Given the description of an element on the screen output the (x, y) to click on. 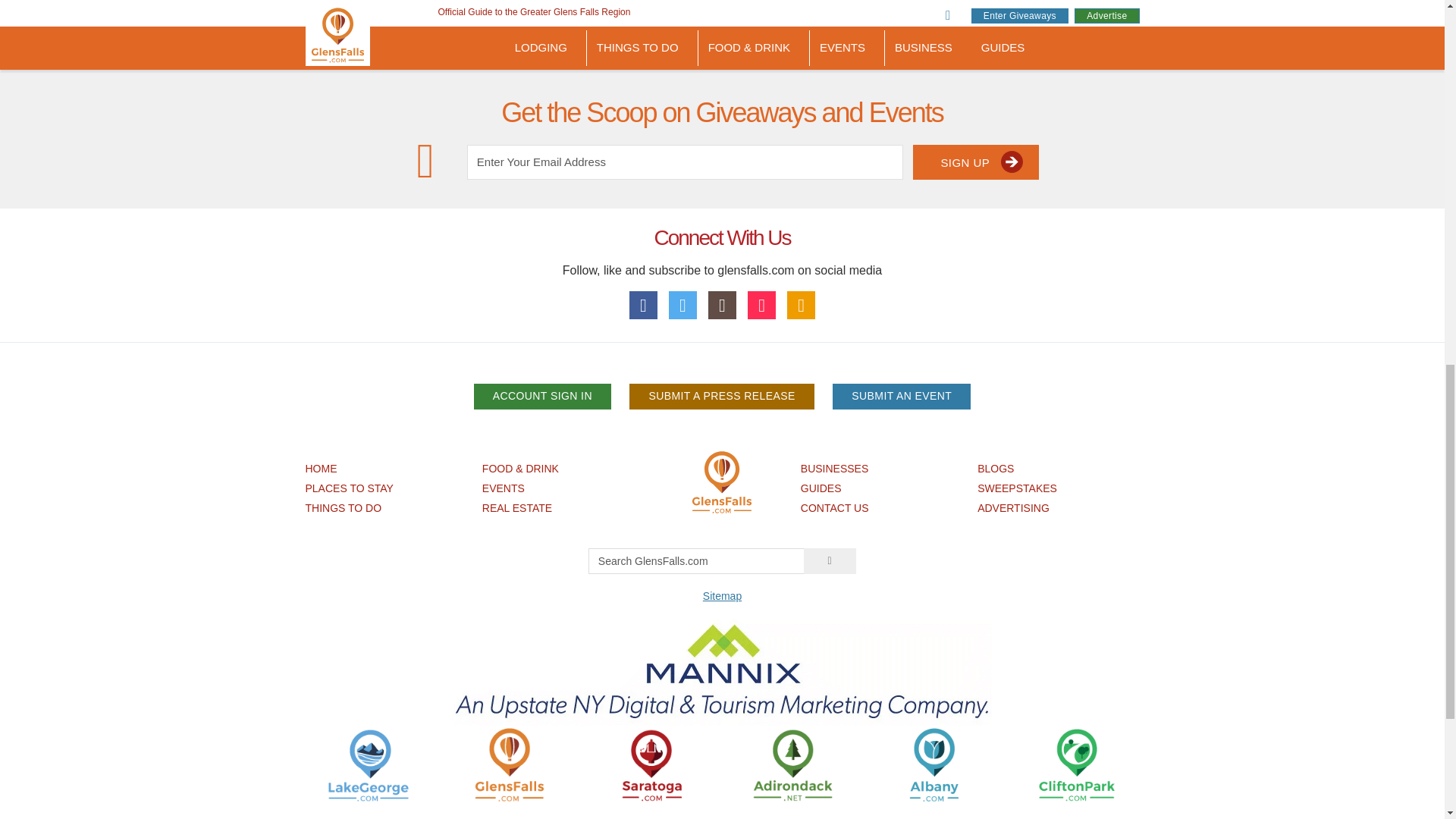
Twitter (682, 304)
Facebook (643, 304)
Opens in a new window (651, 764)
Opens in a new window (792, 764)
My Planner (801, 304)
Opens in a new window (933, 764)
TikTok (762, 304)
Opens in a new window (1075, 764)
Instagram (721, 304)
Opens in a new window (368, 764)
